Given the description of an element on the screen output the (x, y) to click on. 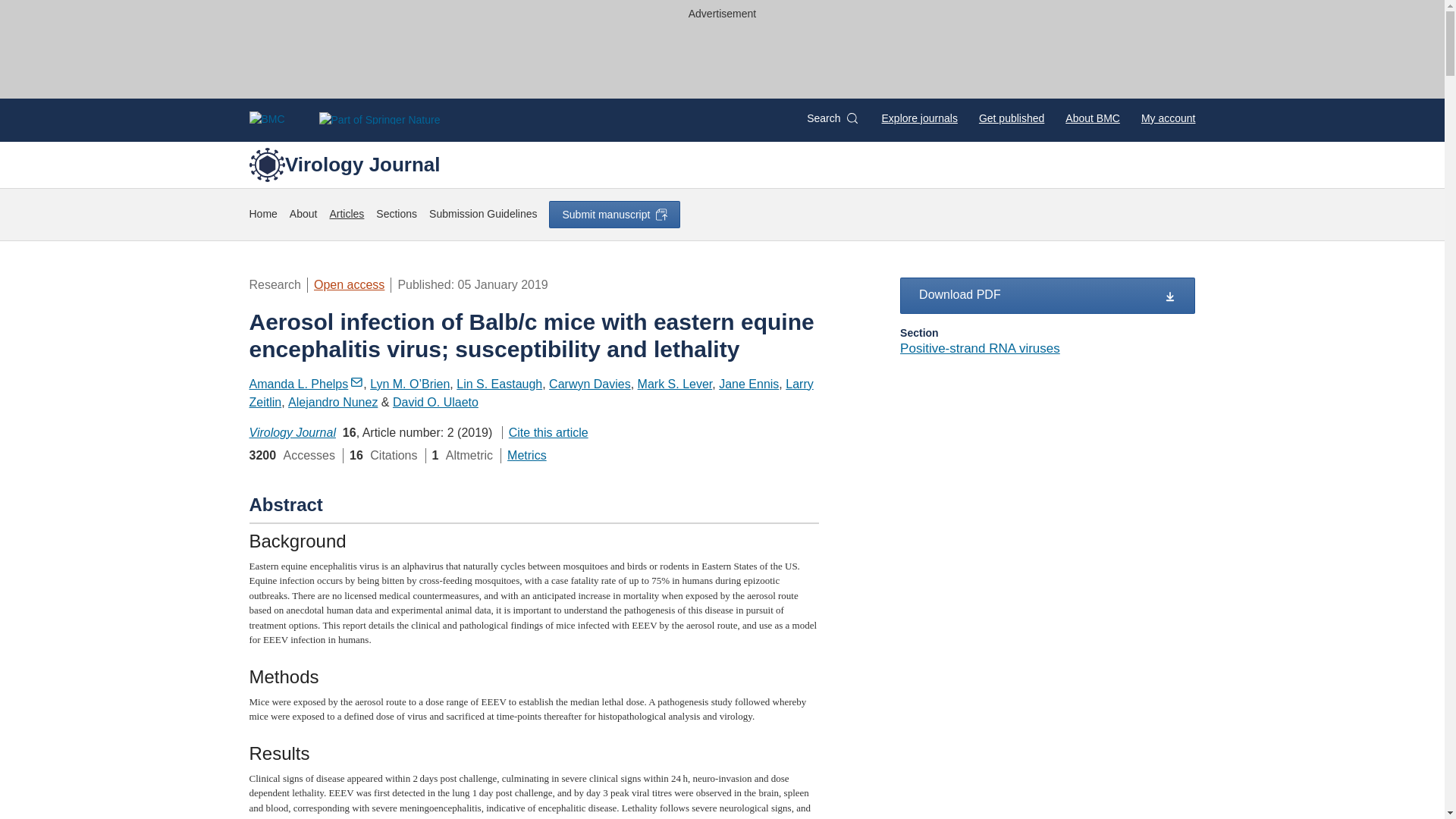
About (303, 213)
David O. Ulaeto (436, 401)
Carwyn Davies (589, 383)
Home (262, 213)
Larry Zeitlin (530, 392)
Cite this article (545, 431)
Mark S. Lever (675, 383)
Sections (395, 213)
Explore journals (920, 118)
Virology Journal (343, 163)
